Given the description of an element on the screen output the (x, y) to click on. 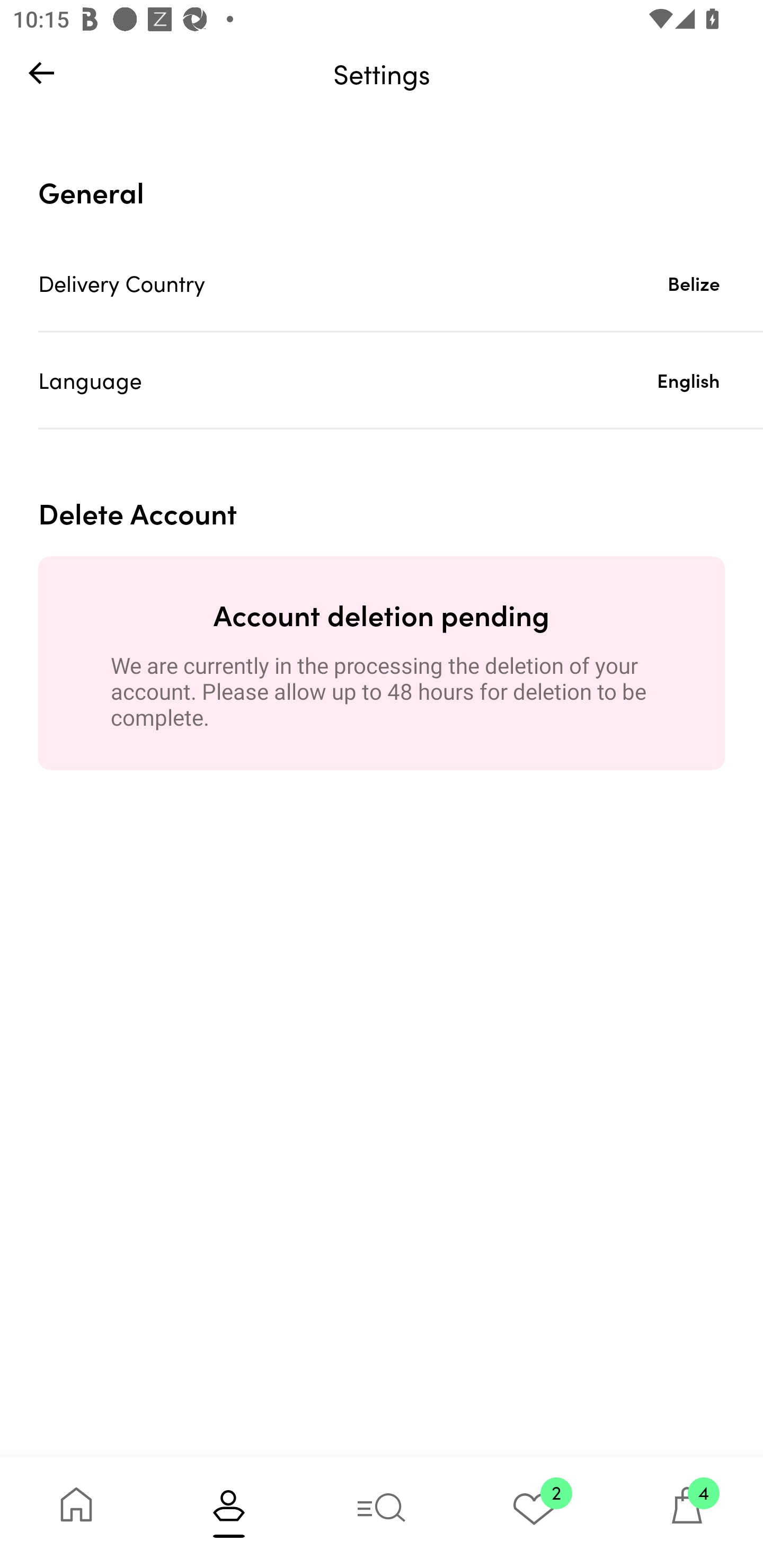
Delivery Country Belize (400, 282)
Language English (400, 380)
2 (533, 1512)
4 (686, 1512)
